Given the description of an element on the screen output the (x, y) to click on. 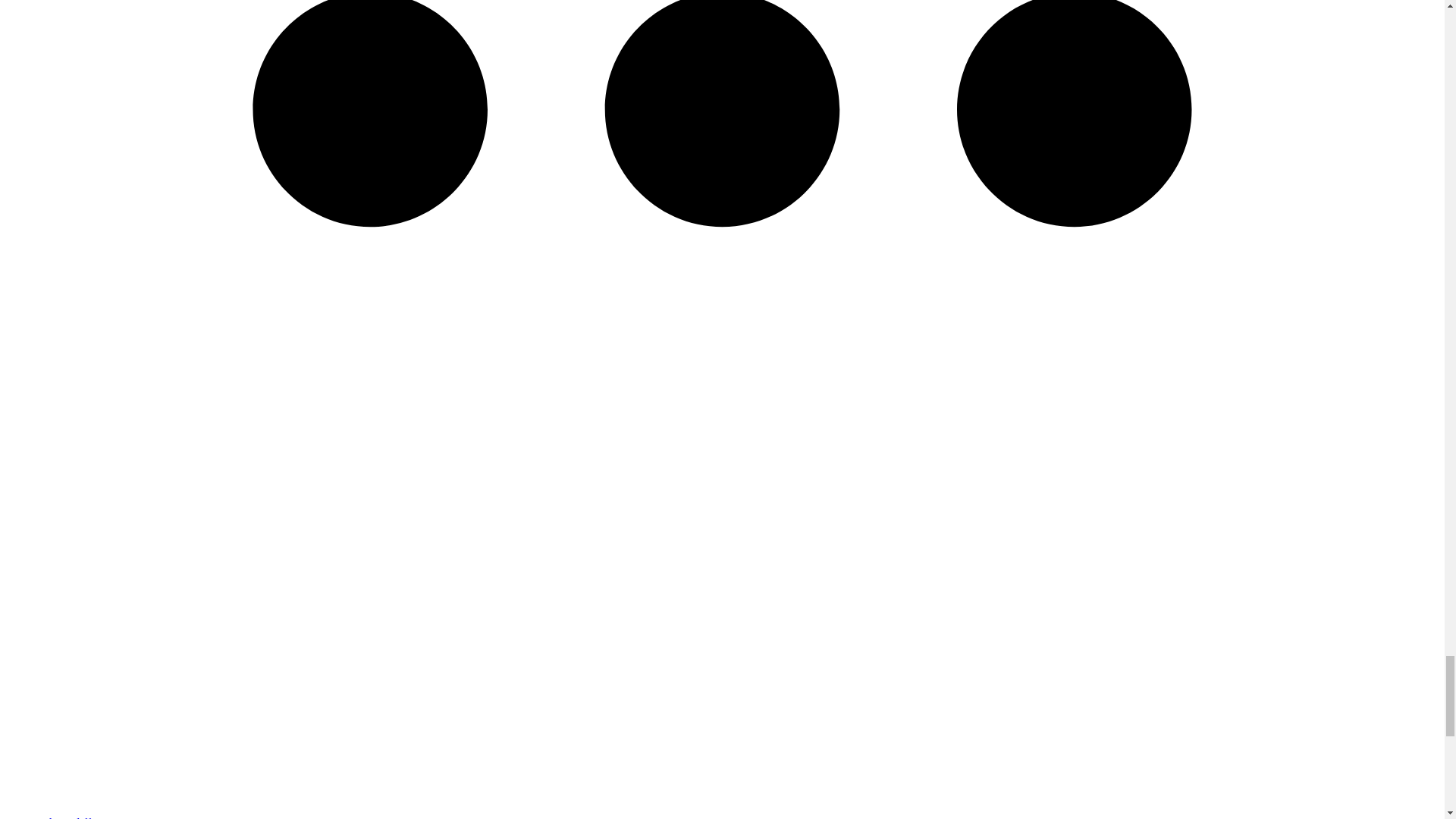
Something different? (68, 817)
